Given the description of an element on the screen output the (x, y) to click on. 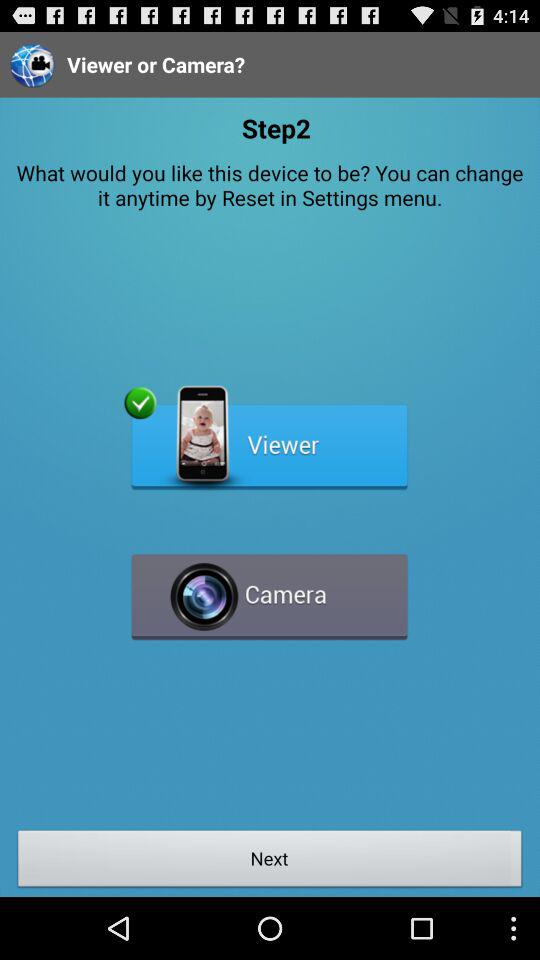
flip to the next (269, 861)
